Given the description of an element on the screen output the (x, y) to click on. 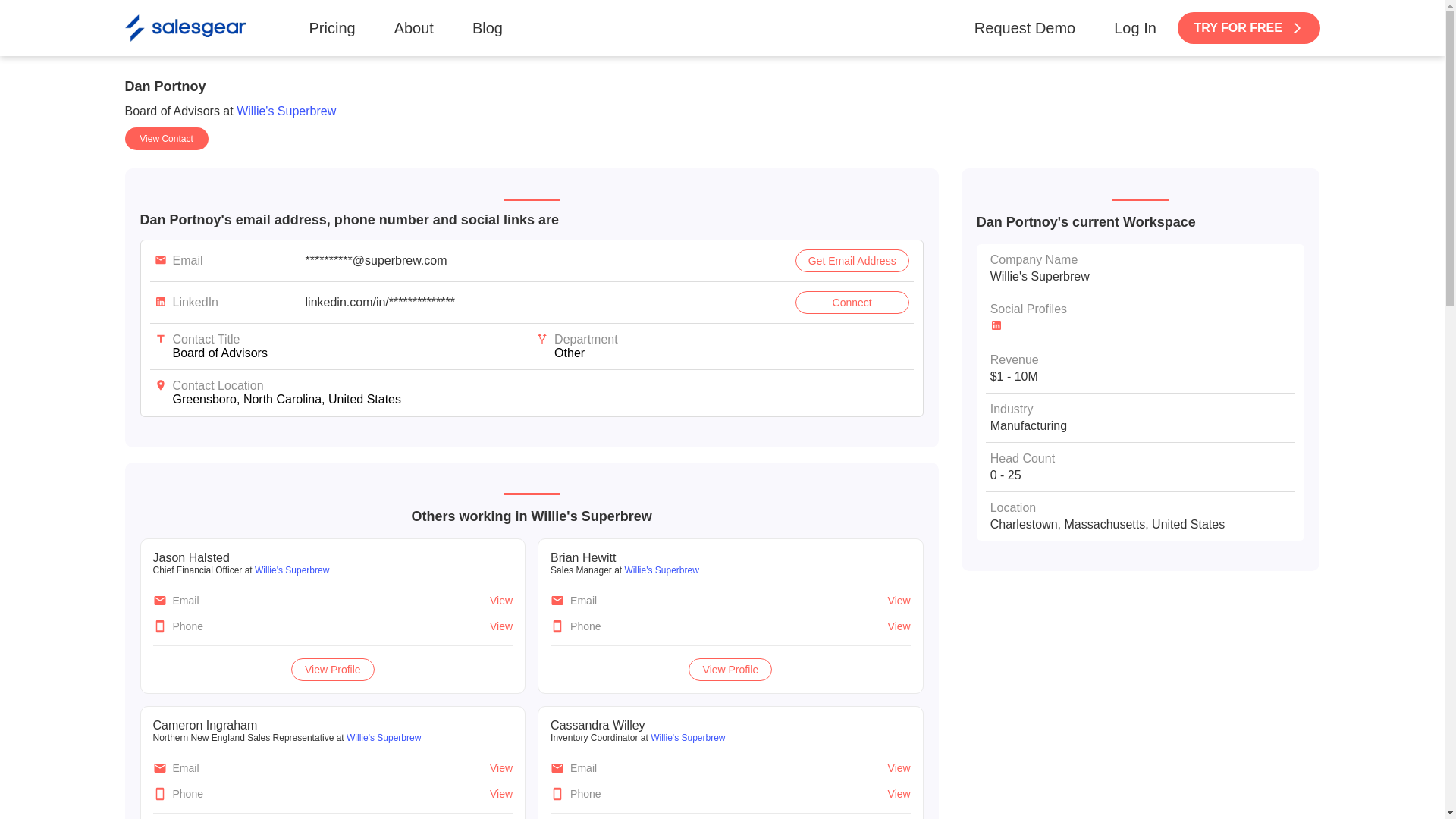
Pricing (331, 27)
Request Demo (1024, 27)
Connect (851, 302)
TRY FOR FREE (1248, 28)
View Contact (165, 138)
Log In (1134, 27)
Get Email Address (851, 260)
View Profile (729, 669)
About (414, 27)
Blog (486, 27)
View Profile (333, 669)
